Given the description of an element on the screen output the (x, y) to click on. 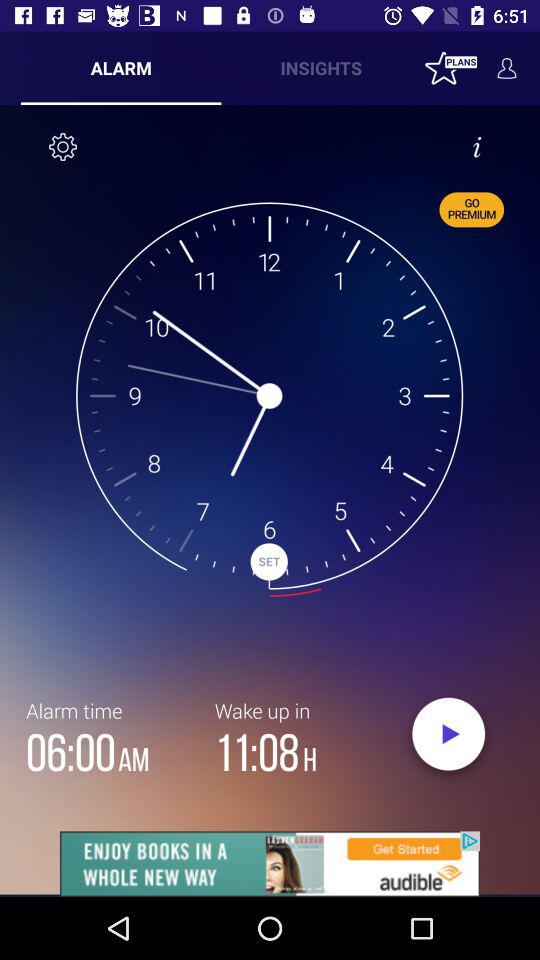
get help (477, 147)
